Given the description of an element on the screen output the (x, y) to click on. 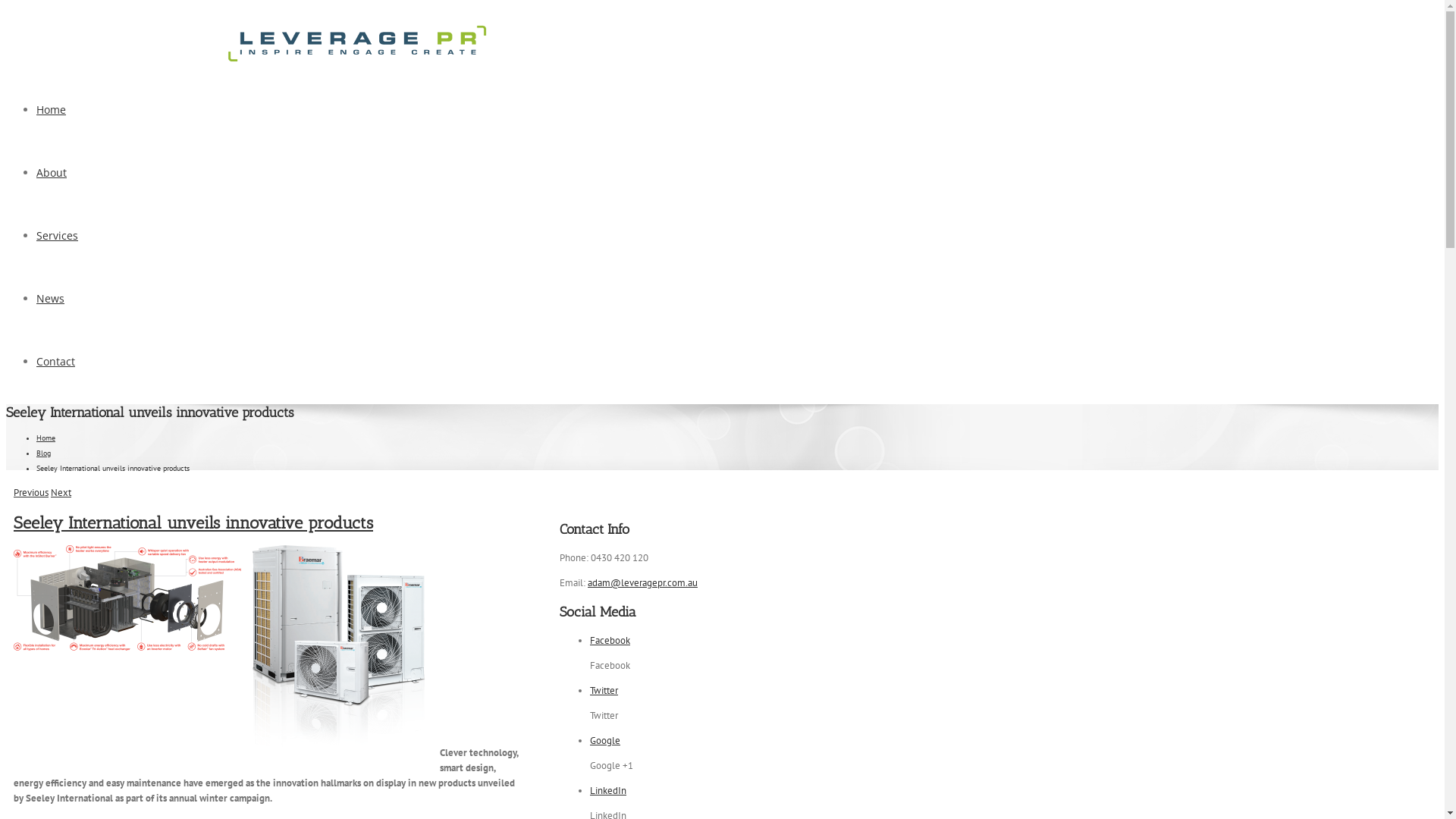
News Element type: text (50, 298)
Home Element type: text (45, 437)
Contact Element type: text (55, 361)
Twitter Element type: text (603, 690)
Seeley International unveils innovative products Element type: text (193, 522)
Google+ Element type: text (1418, 185)
adam@leveragepr.com.au Element type: text (162, 30)
Google Element type: text (604, 740)
Home Element type: text (50, 109)
Previous Element type: text (30, 492)
About Element type: text (51, 172)
Skype Element type: text (1413, 233)
Facebook Element type: text (609, 639)
Services Element type: text (57, 235)
adam@leveragepr.com.au Element type: text (642, 582)
Next Element type: text (60, 492)
LinkedIn Element type: text (607, 790)
LinkedIn Element type: text (1419, 136)
Twitter Element type: text (1415, 88)
Blog Element type: text (43, 453)
Facebook Element type: text (1420, 39)
